Given the description of an element on the screen output the (x, y) to click on. 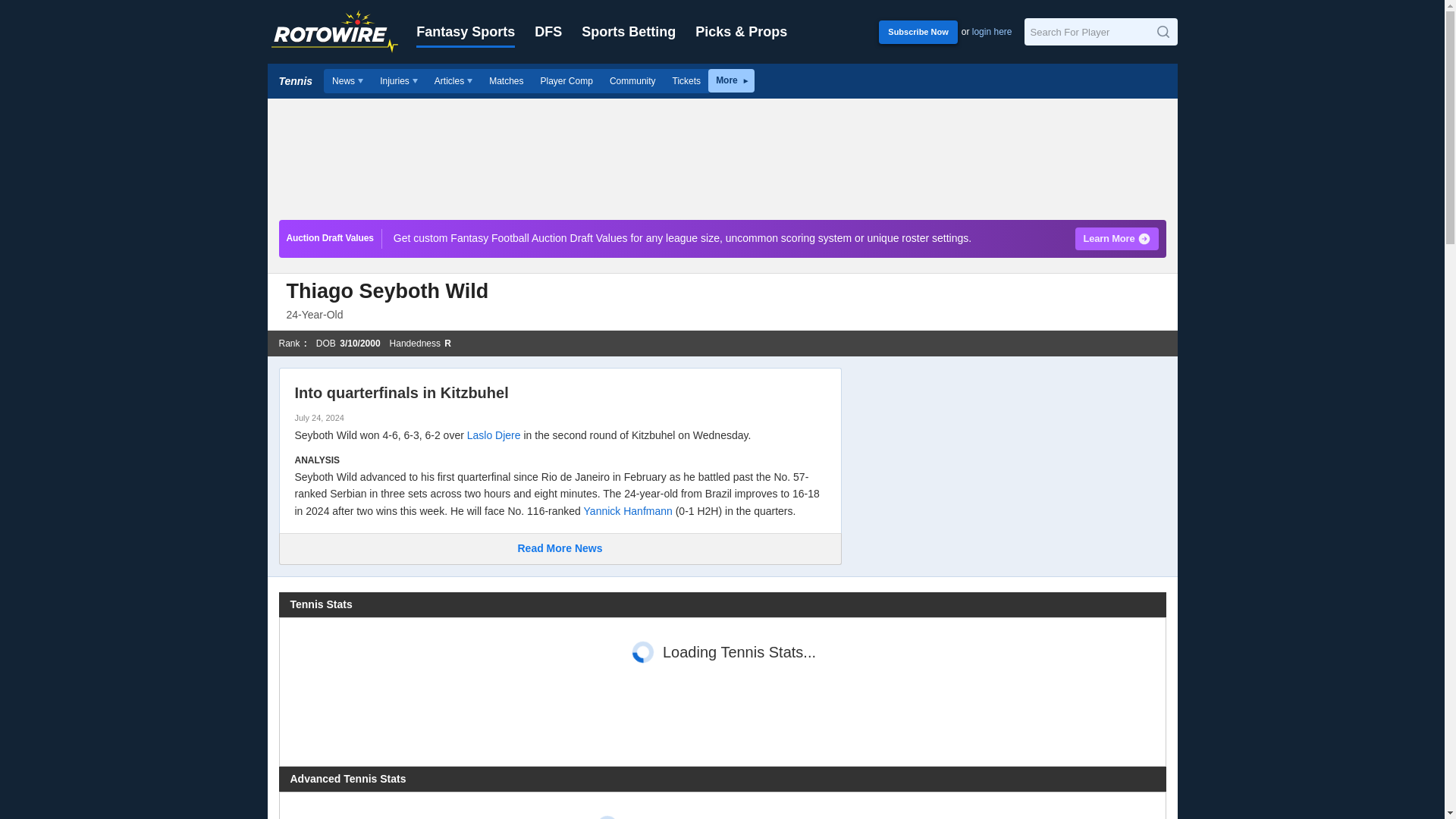
Tennis Matches and Info (505, 80)
Community (632, 80)
Tickets (686, 80)
Learn More (1116, 238)
More (730, 80)
Matches (505, 80)
Fantasy Sports (465, 31)
Auction Draft Values (330, 238)
